Given the description of an element on the screen output the (x, y) to click on. 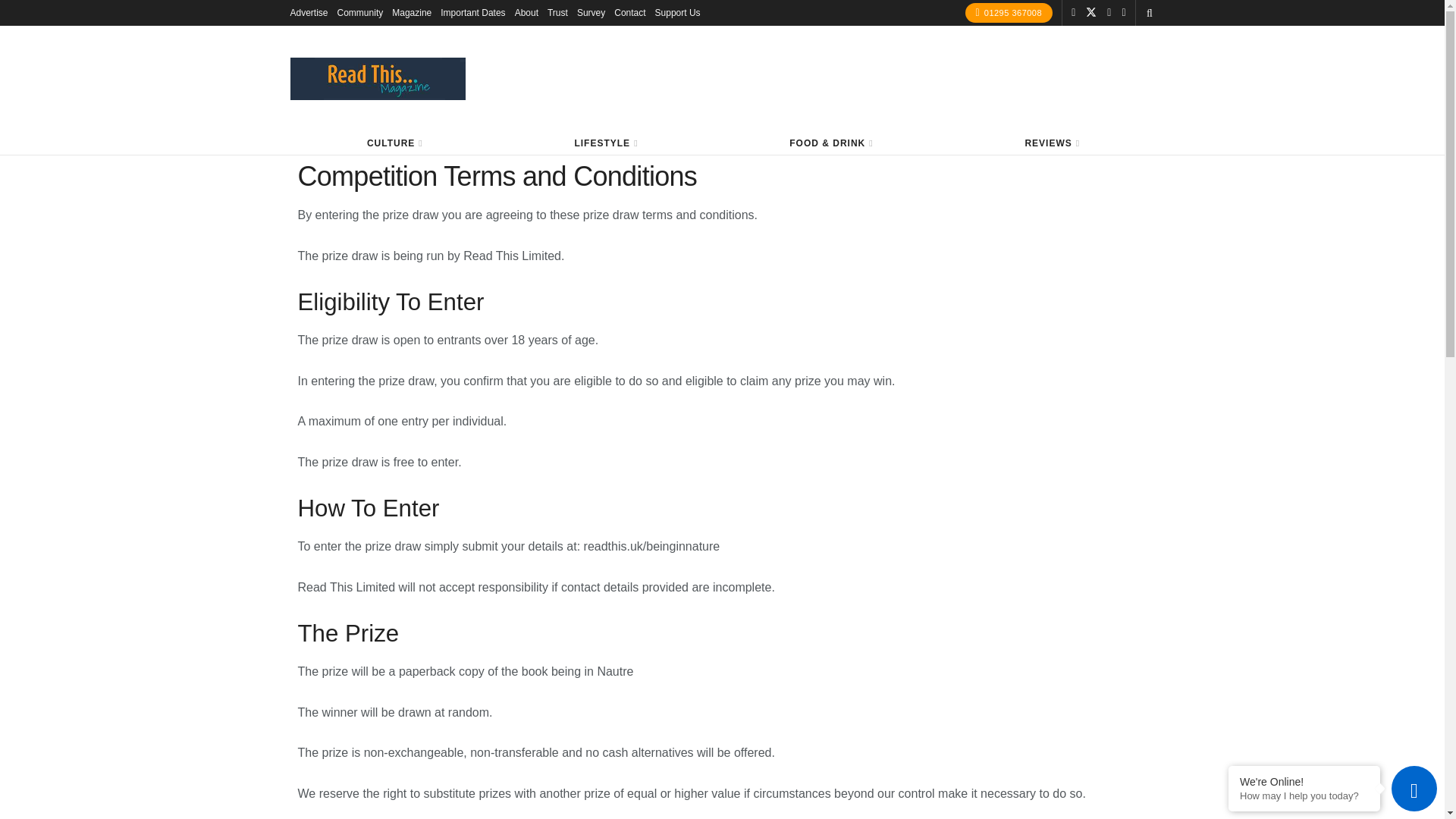
How may I help you today? (1304, 795)
REVIEWS (1050, 142)
LIFESTYLE (605, 142)
CULTURE (393, 142)
01295 367008 (1008, 12)
Advertise (308, 12)
Survey (590, 12)
Advertisement (878, 75)
About (526, 12)
Contact (629, 12)
Important Dates (473, 12)
Community (360, 12)
Support Us (677, 12)
Magazine (410, 12)
We're Online! (1304, 781)
